Given the description of an element on the screen output the (x, y) to click on. 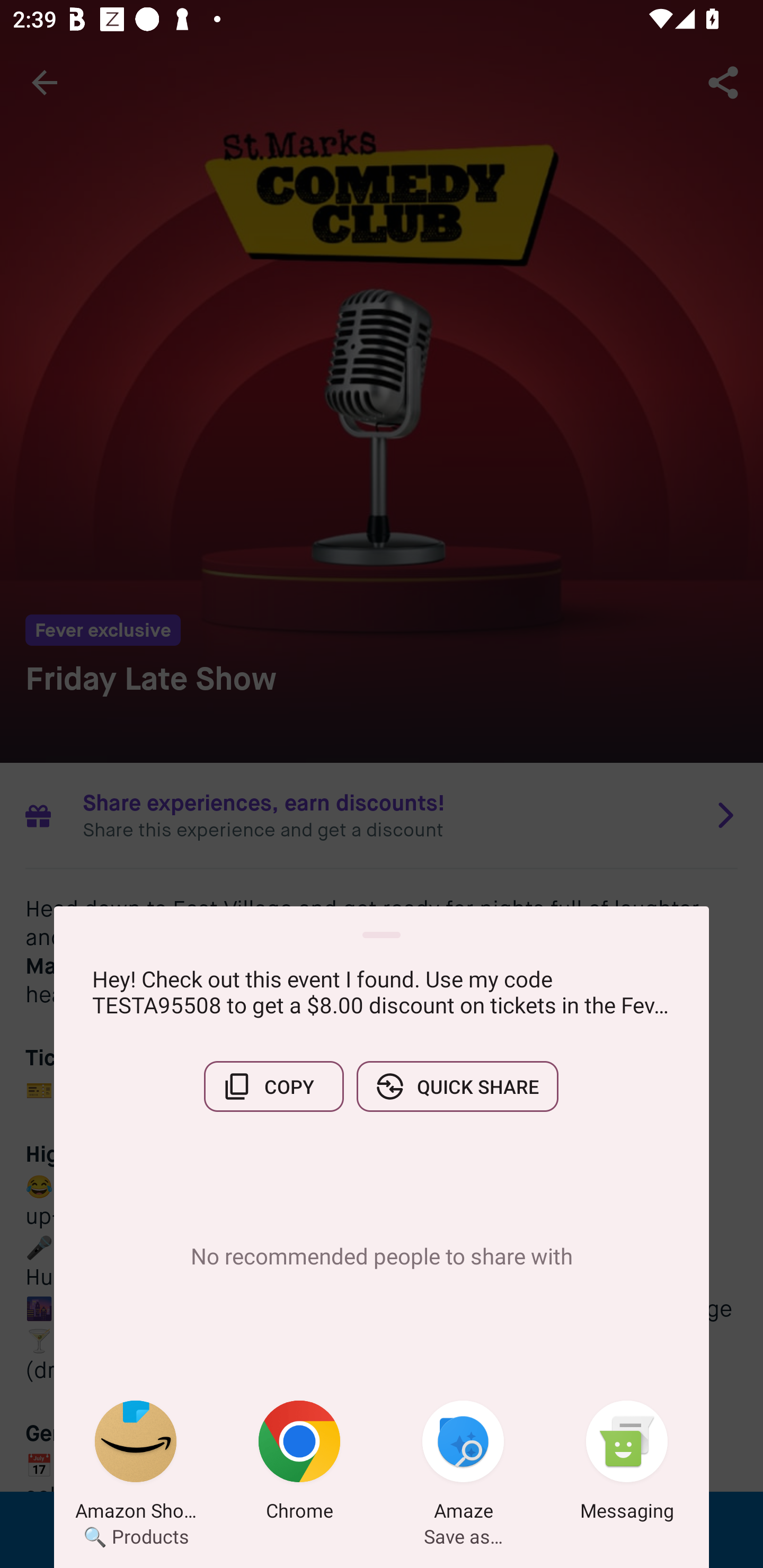
COPY (273, 1086)
QUICK SHARE (457, 1086)
Amazon Shopping 🔍 Products (135, 1463)
Chrome (299, 1463)
Amaze Save as… (463, 1463)
Messaging (626, 1463)
